Given the description of an element on the screen output the (x, y) to click on. 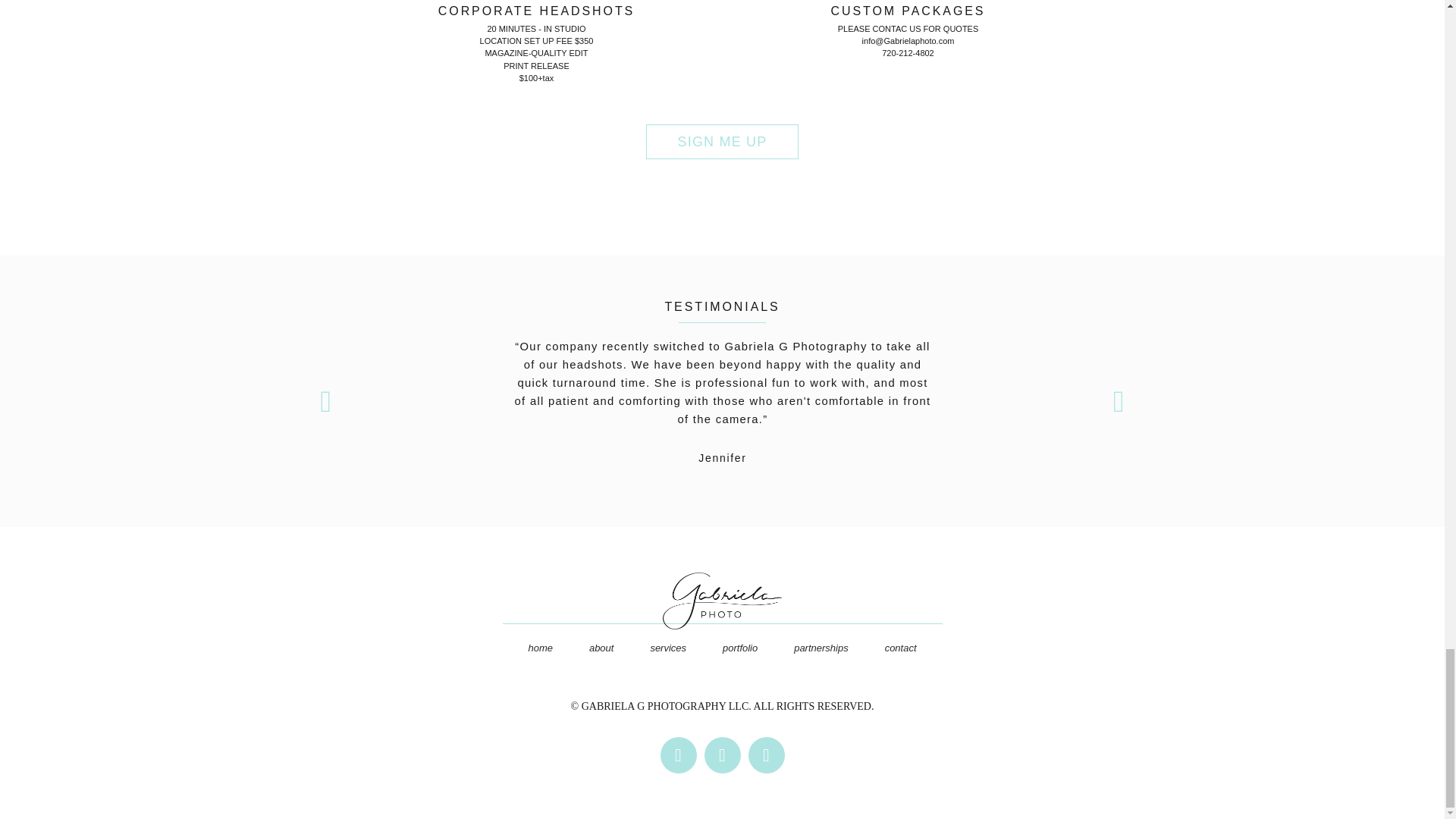
SIGN ME UP (721, 141)
portfolio (740, 648)
services (667, 648)
contact (900, 648)
partnerships (821, 648)
about (600, 648)
home (539, 648)
